Given the description of an element on the screen output the (x, y) to click on. 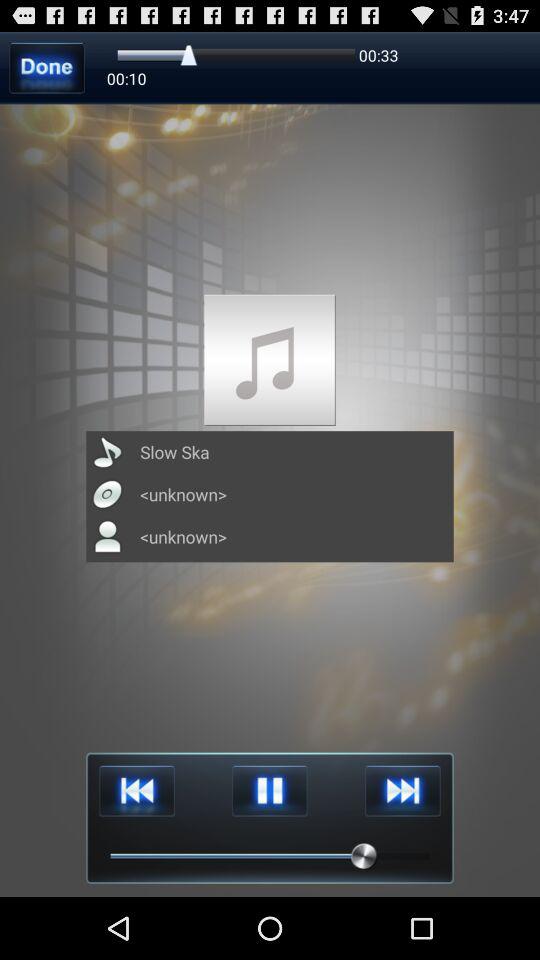
go back (136, 790)
